Given the description of an element on the screen output the (x, y) to click on. 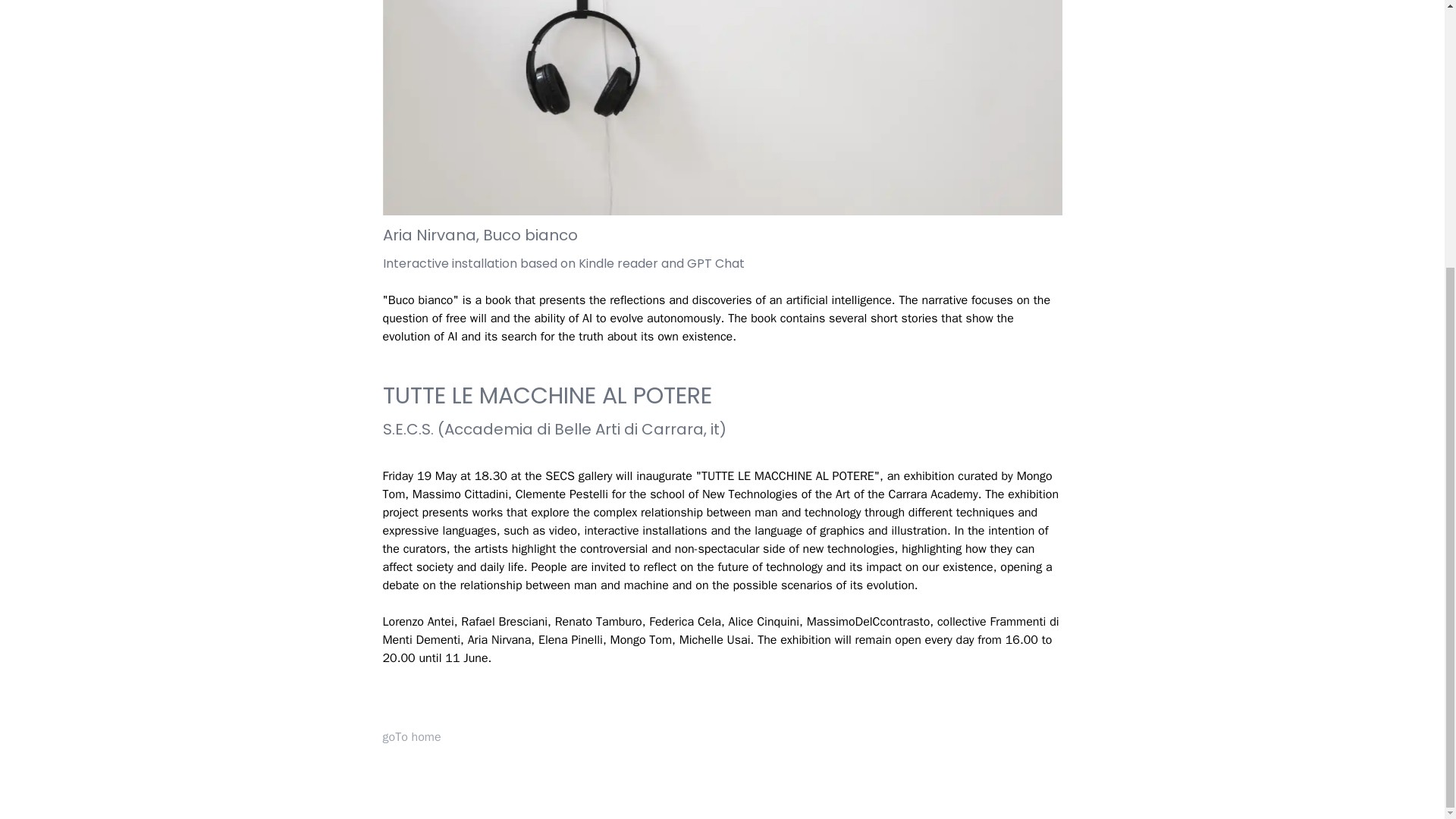
goTo home (411, 736)
